Given the description of an element on the screen output the (x, y) to click on. 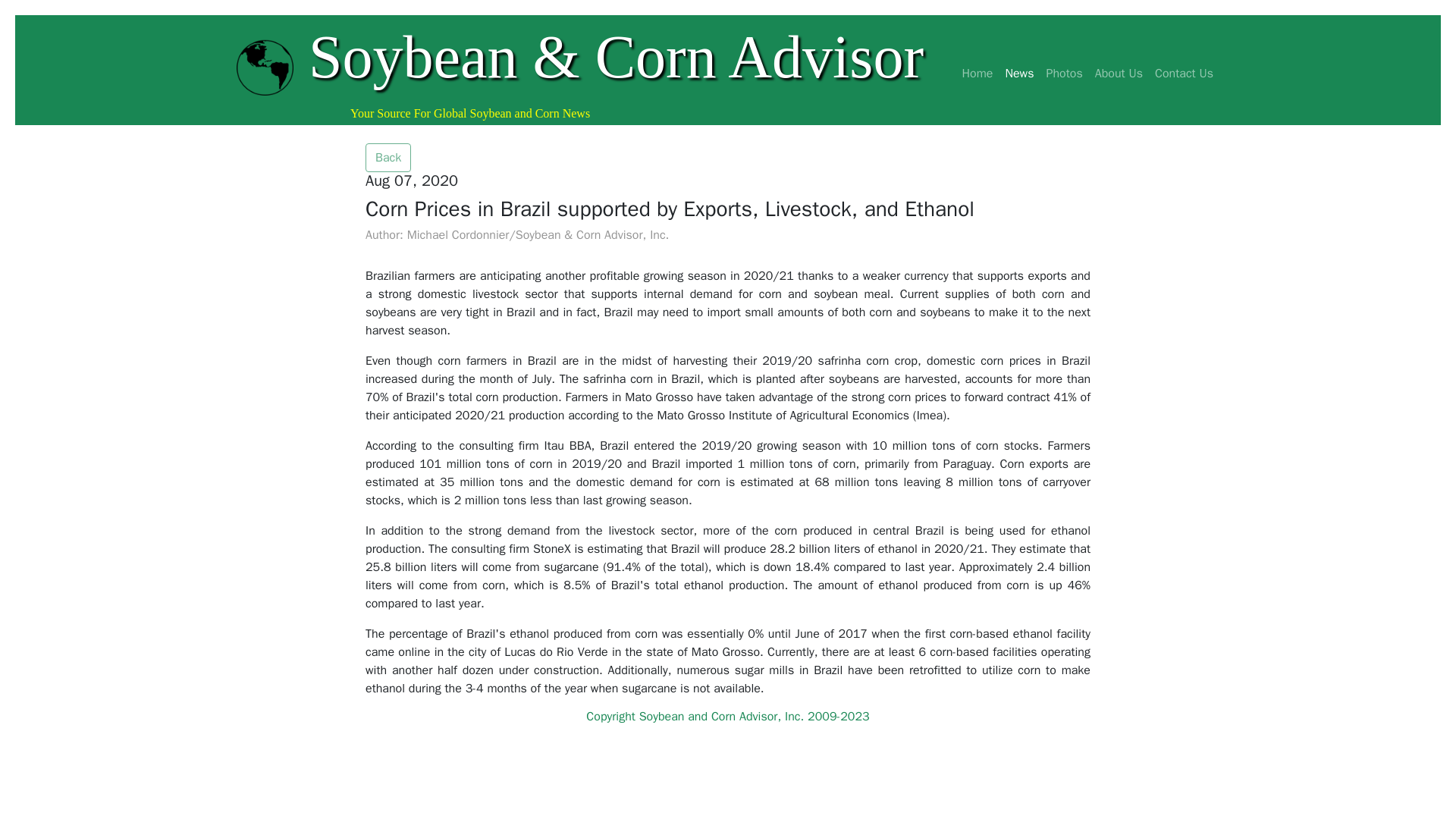
Photos (1063, 73)
Home (977, 73)
News (1018, 73)
About Us (1118, 73)
Back (387, 157)
Contact Us (1184, 73)
